Given the description of an element on the screen output the (x, y) to click on. 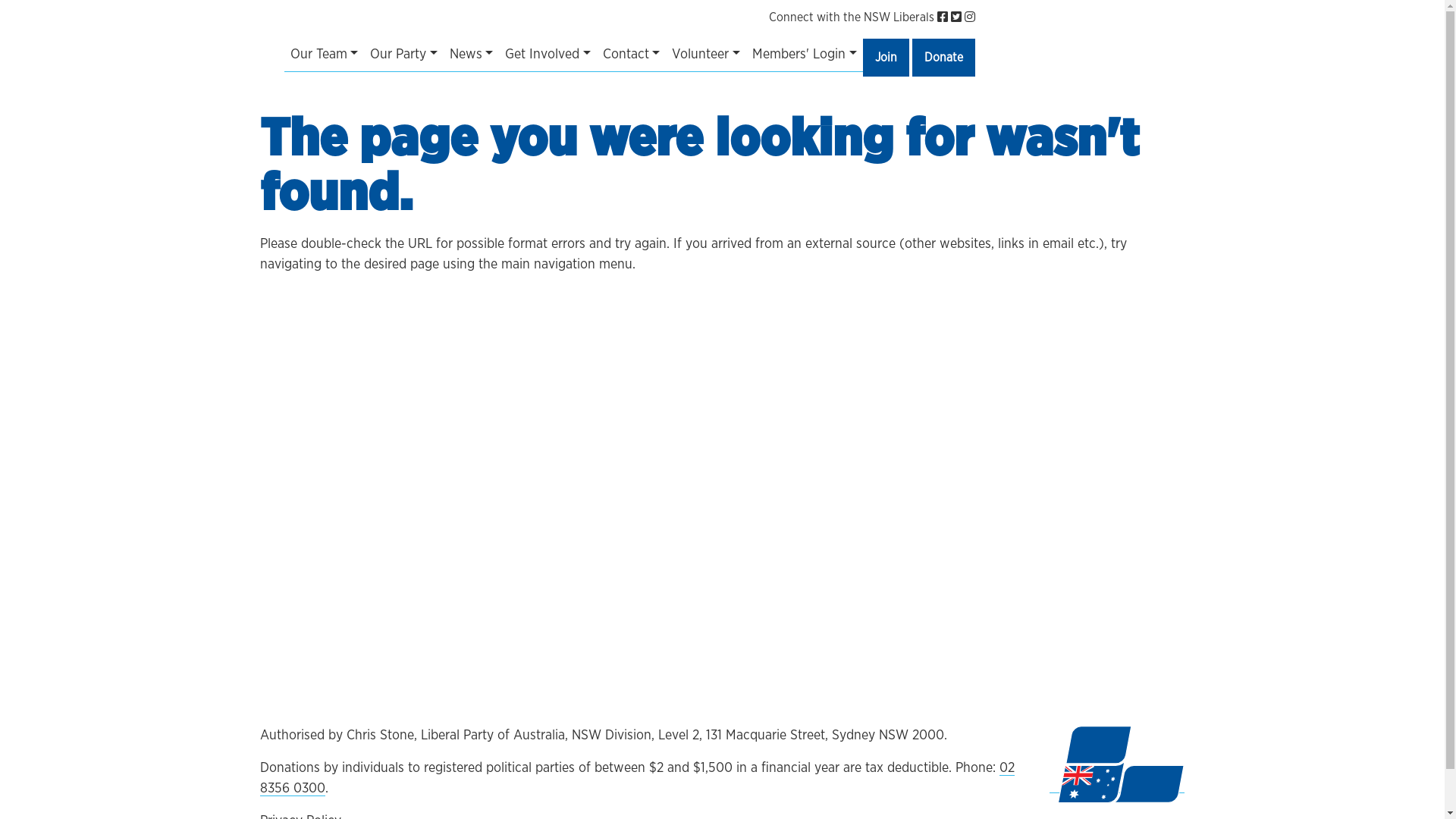
Get Involved Element type: text (547, 54)
Volunteer Element type: text (705, 54)
Facebook Element type: hover (943, 17)
Twitter Element type: hover (957, 17)
02 8356 0300 Element type: text (636, 778)
News Element type: text (471, 54)
Donate Element type: text (943, 56)
Our Team Element type: text (323, 54)
Instagram Element type: hover (969, 17)
Contact Element type: text (631, 54)
Join Element type: text (885, 56)
Members' Login Element type: text (804, 54)
Our Party Element type: text (403, 54)
